Given the description of an element on the screen output the (x, y) to click on. 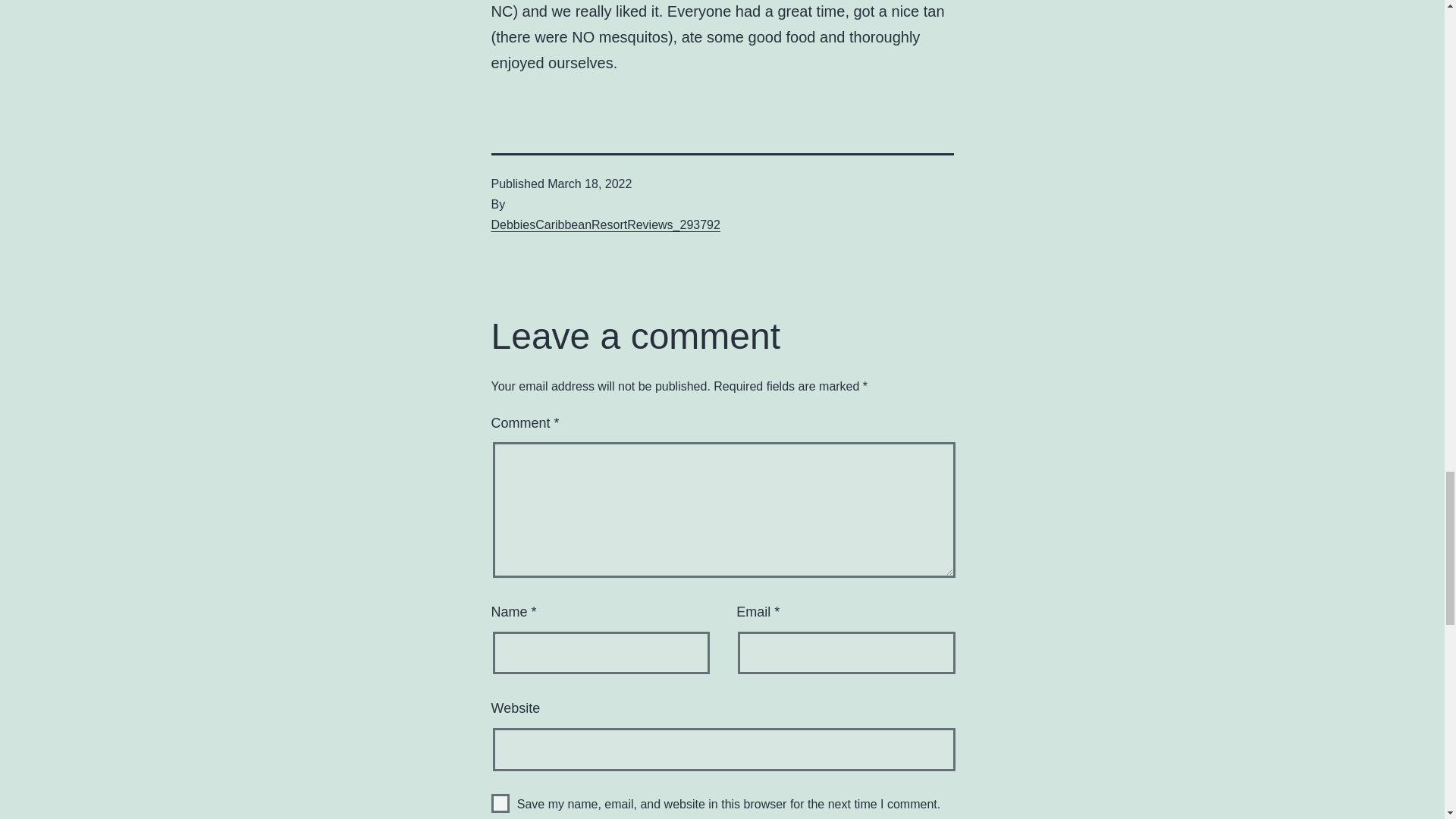
yes (500, 803)
